Given the description of an element on the screen output the (x, y) to click on. 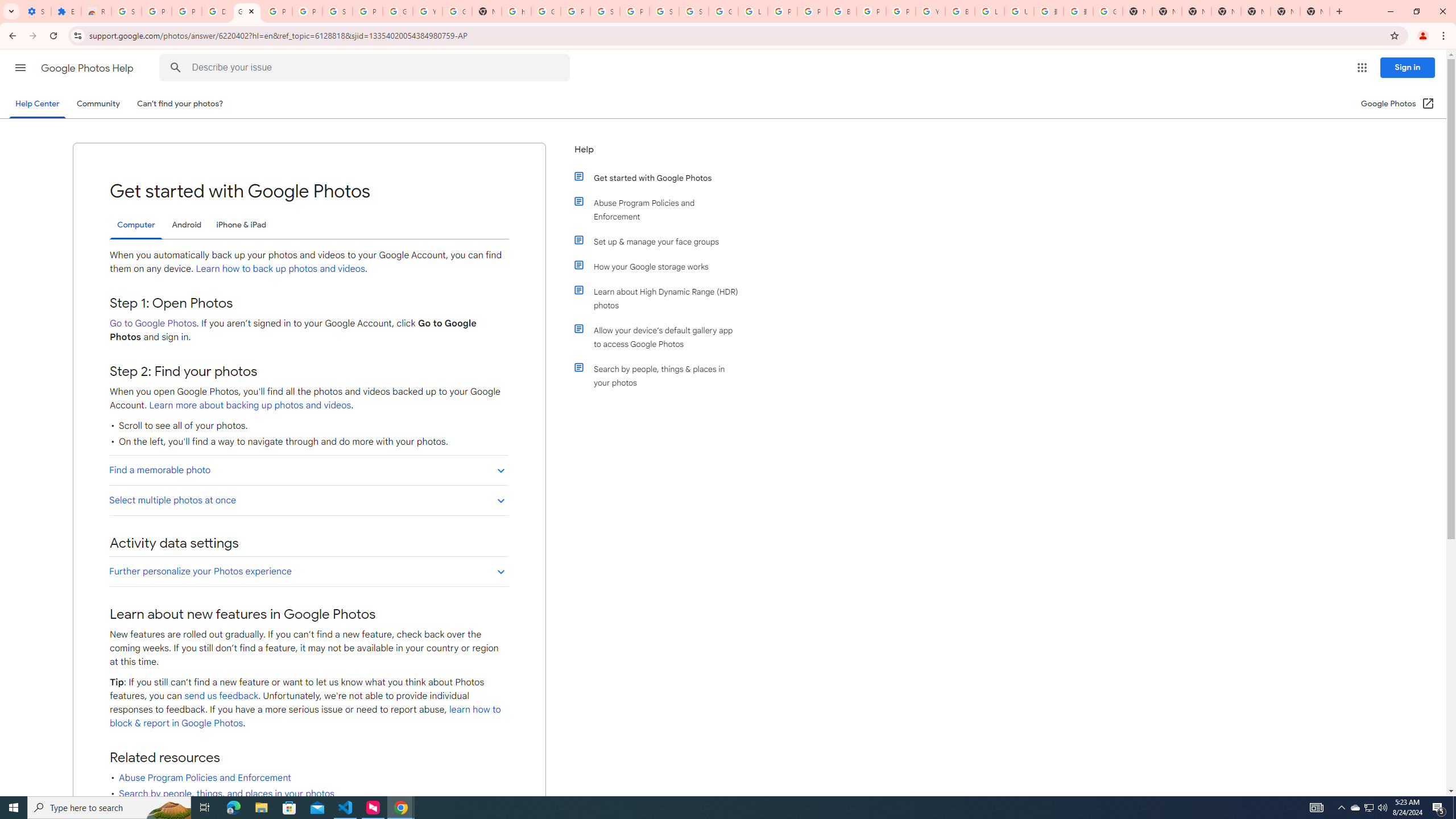
Abuse Program Policies and Enforcement (661, 209)
Google Account (397, 11)
Main menu (20, 67)
YouTube (930, 11)
Select multiple photos at once (308, 499)
Privacy Help Center - Policies Help (782, 11)
